Given the description of an element on the screen output the (x, y) to click on. 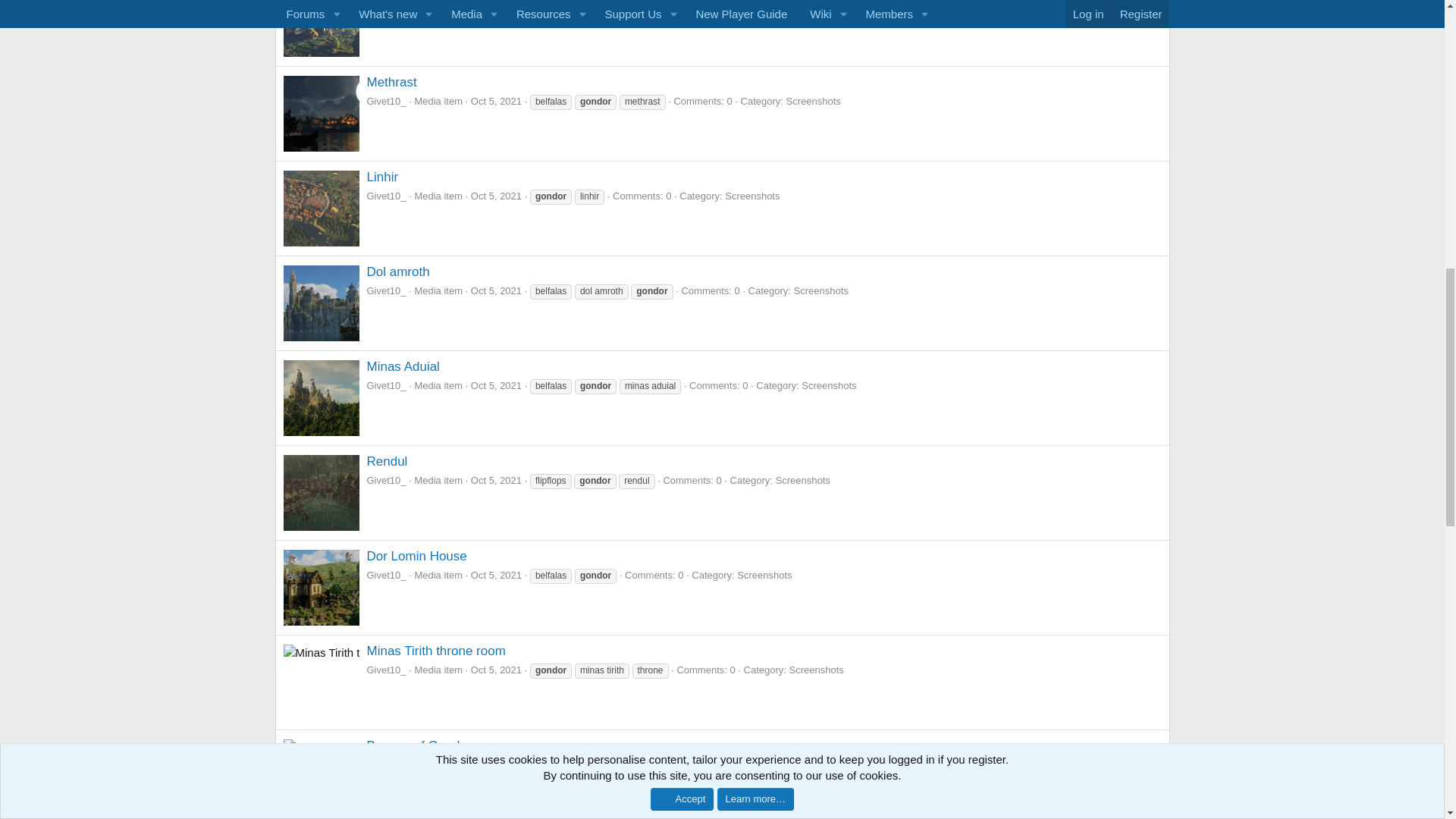
Oct 5, 2021 at 4:19 PM (495, 195)
Dec 30, 2021 at 10:33 AM (499, 6)
Oct 5, 2021 at 4:19 PM (495, 290)
Oct 5, 2021 at 4:19 PM (495, 385)
Oct 5, 2021 at 4:19 PM (495, 669)
Oct 5, 2021 at 4:19 PM (495, 574)
Oct 5, 2021 at 4:19 PM (495, 480)
Oct 5, 2021 at 4:19 PM (495, 101)
Oct 5, 2021 at 4:19 PM (495, 764)
